Given the description of an element on the screen output the (x, y) to click on. 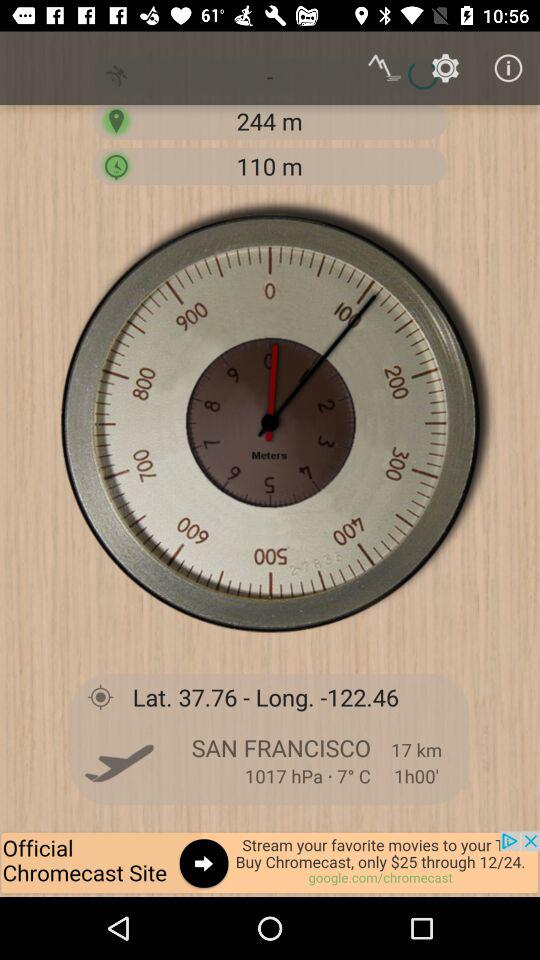
its a advertisement (270, 864)
